Given the description of an element on the screen output the (x, y) to click on. 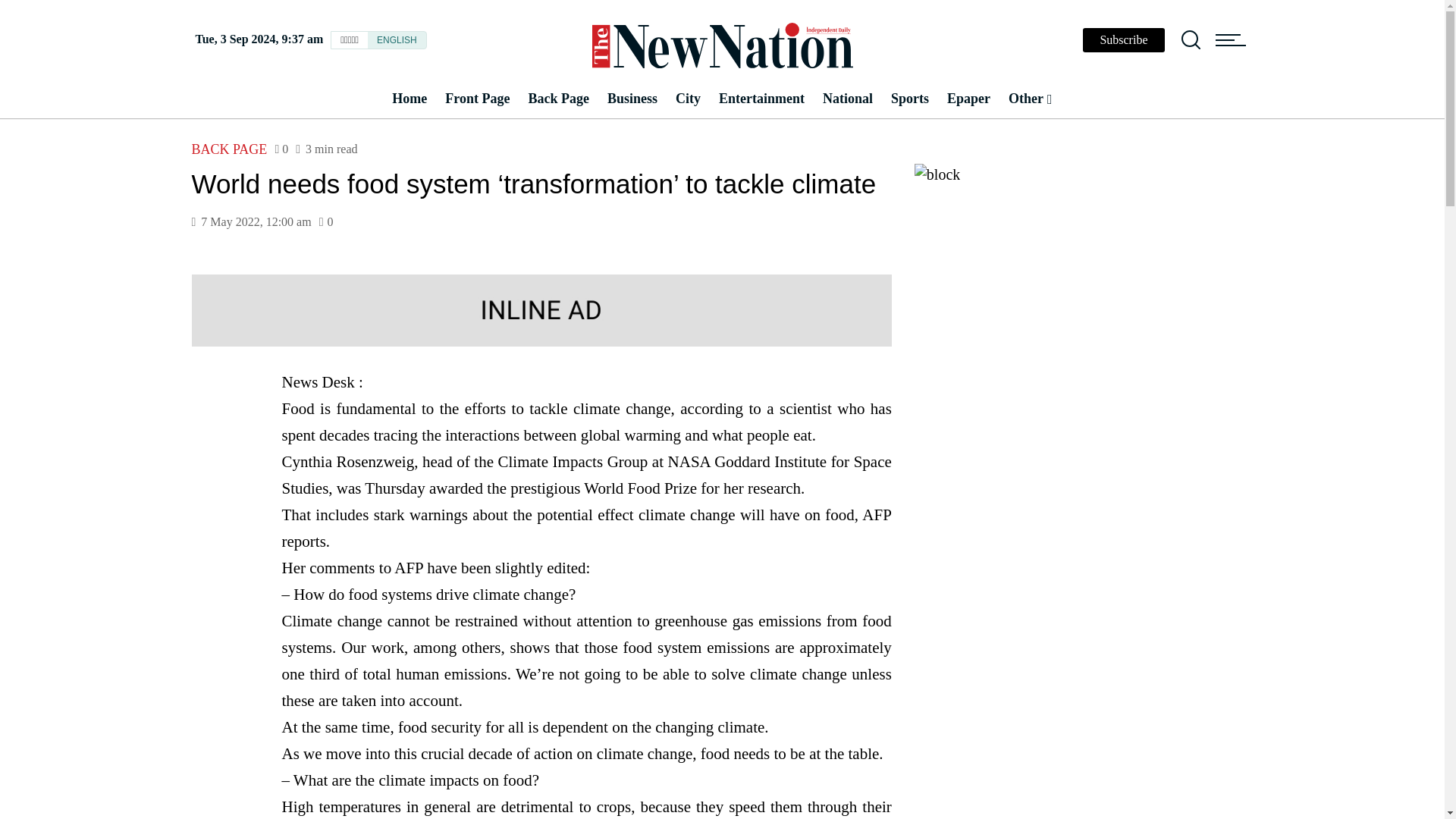
Business (632, 98)
0 (325, 222)
Entertainment (761, 98)
City (688, 98)
0 (281, 148)
Epaper (967, 98)
Subscribe (1123, 39)
BACK PAGE (228, 149)
Front Page (476, 98)
Back Page (558, 98)
